Given the description of an element on the screen output the (x, y) to click on. 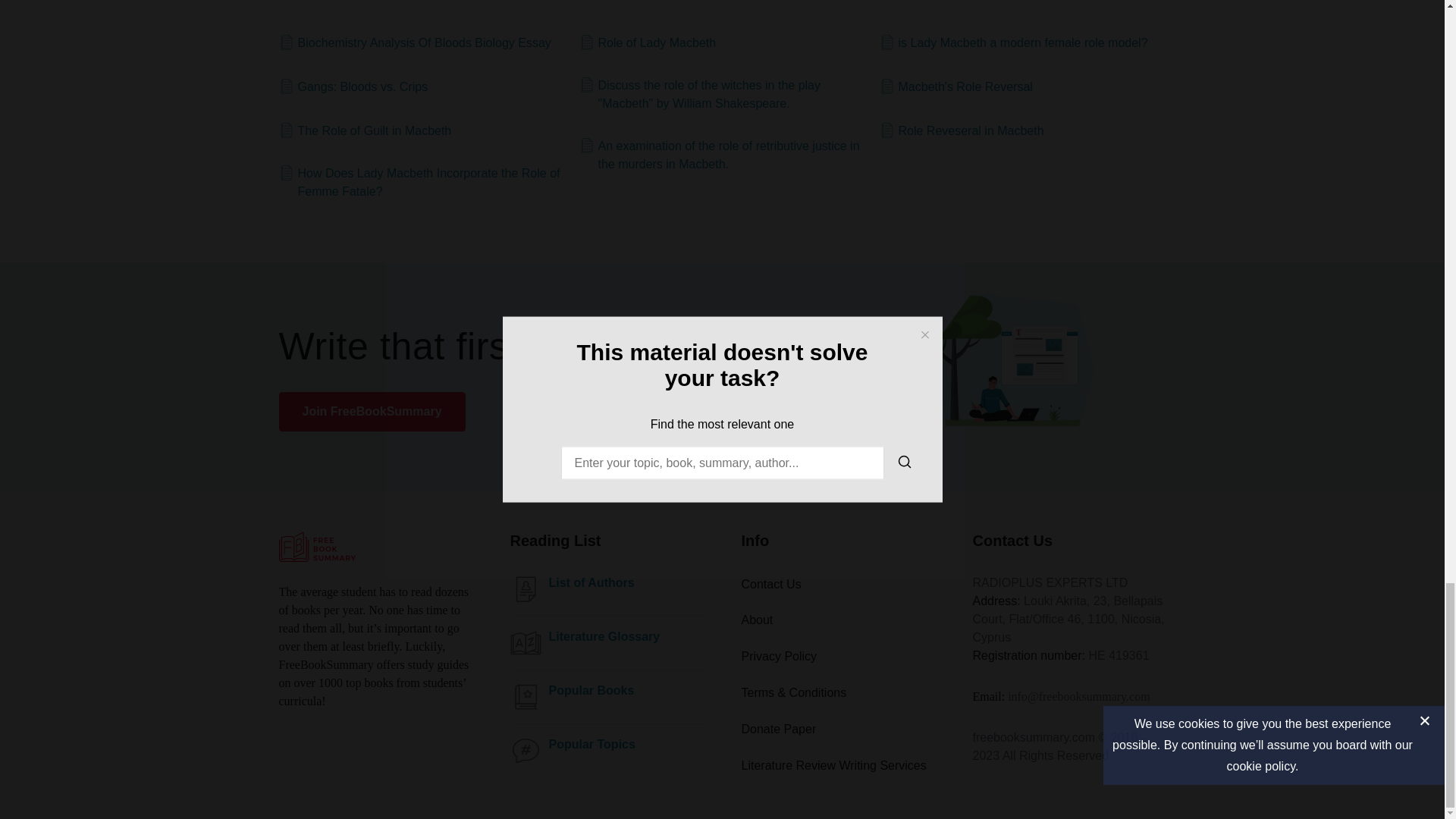
Gangs: Bloods vs. Crips (353, 86)
Biochemistry Analysis Of Bloods Biology Essay (415, 43)
The Role of Guilt in Macbeth (365, 131)
How Does Lady Macbeth Incorporate the Role of Femme Fatale? (422, 182)
is Lady Macbeth a modern female role model? (1013, 43)
Role of Lady Macbeth (647, 43)
List of Authors (591, 583)
Role Reveseral in Macbeth (961, 131)
Macbeth's Role Reversal (955, 86)
